Given the description of an element on the screen output the (x, y) to click on. 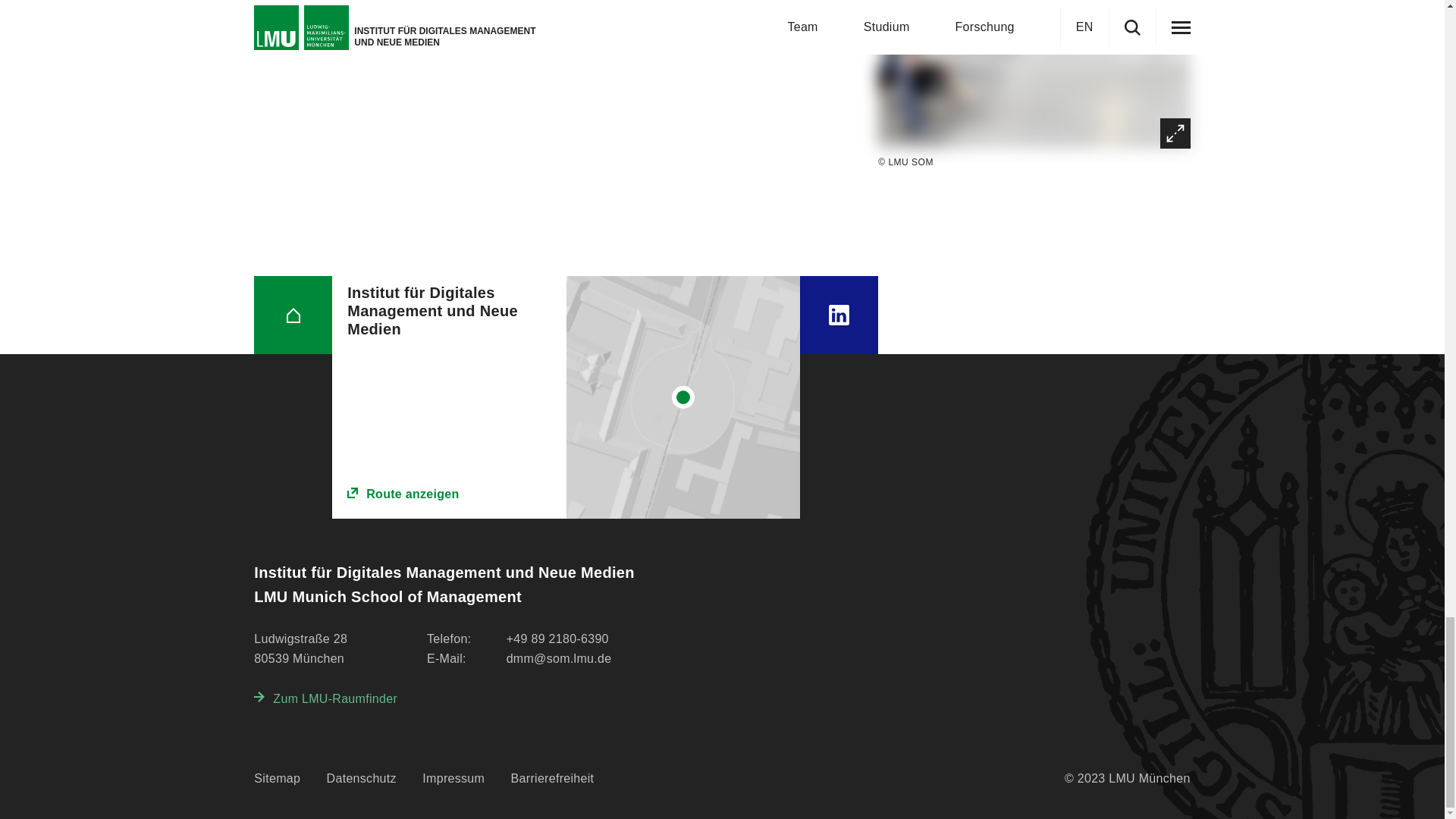
Startseite (292, 314)
Route anzeigen (449, 494)
